Given the description of an element on the screen output the (x, y) to click on. 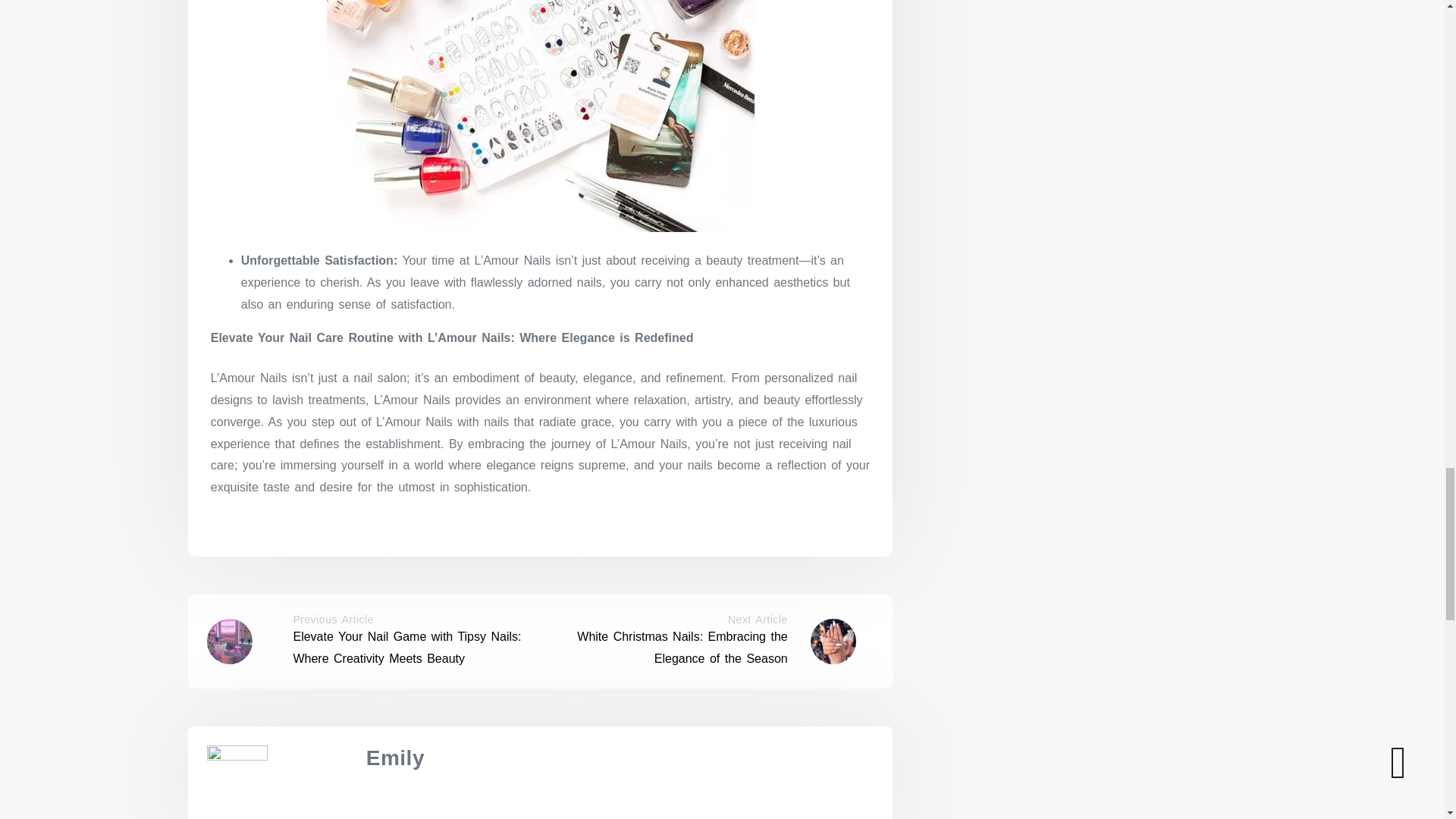
White Christmas Nails: Embracing the Elegance of the Season (681, 647)
